Given the description of an element on the screen output the (x, y) to click on. 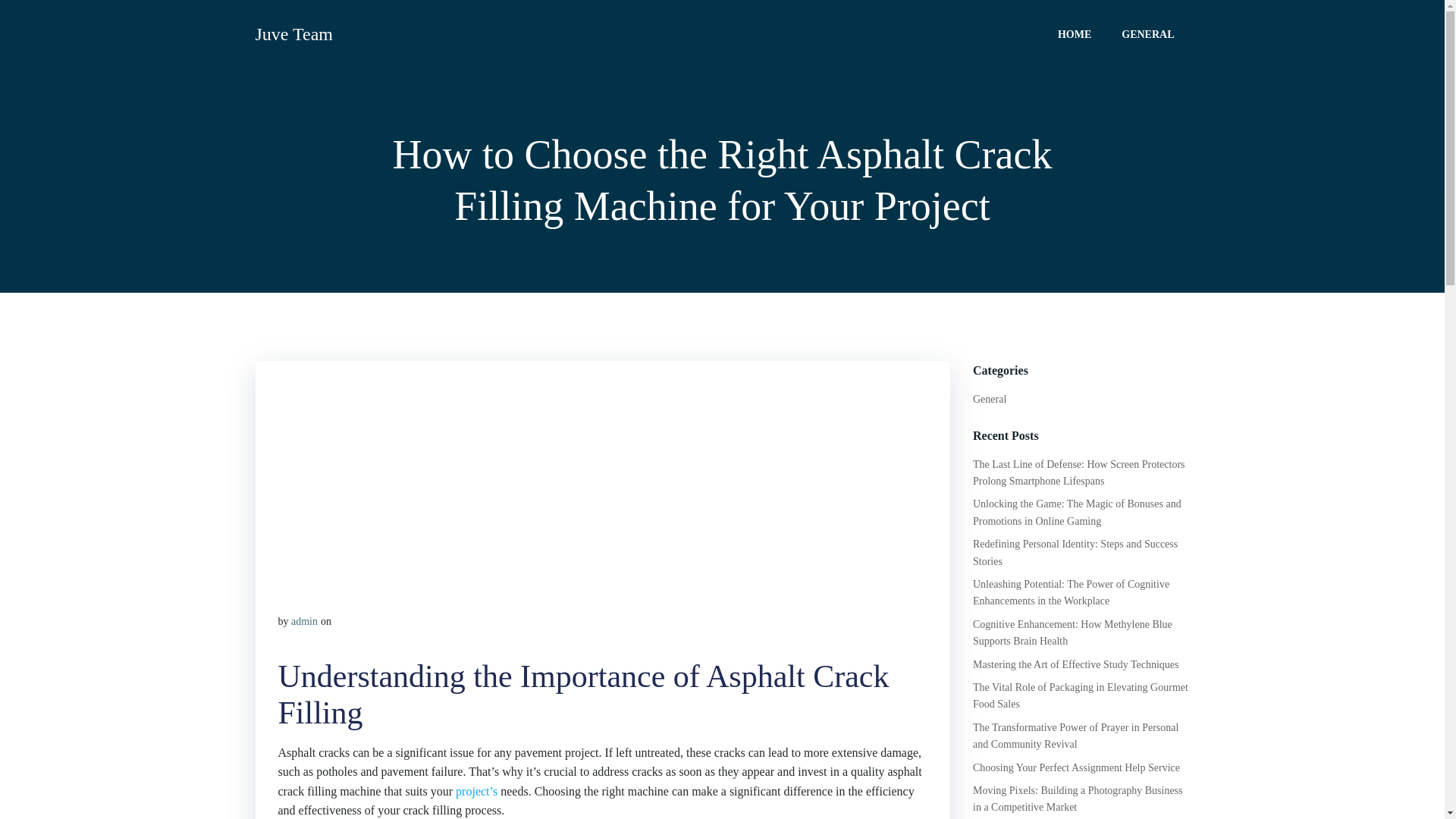
Choosing Your Perfect Assignment Help Service (1075, 767)
admin (304, 621)
The Vital Role of Packaging in Elevating Gourmet Food Sales (1080, 695)
Mastering the Art of Effective Study Techniques (1074, 664)
GENERAL (1147, 33)
HOME (1074, 33)
Juve Team (293, 33)
